Given the description of an element on the screen output the (x, y) to click on. 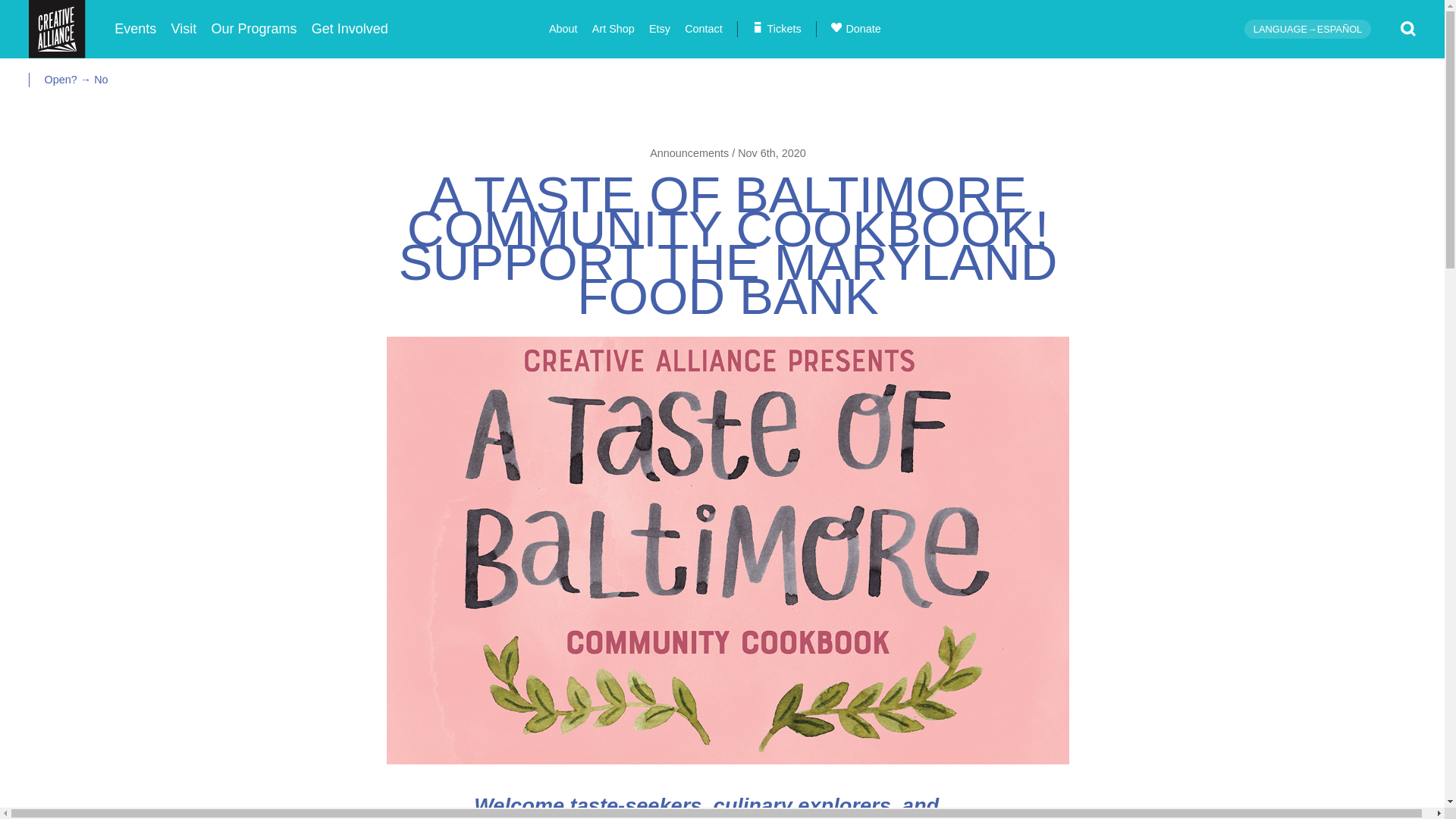
Contact (703, 28)
Art Shop (613, 28)
Get Involved (349, 29)
Etsy (659, 28)
Donate (855, 28)
Events (135, 29)
Our Programs (253, 29)
About (563, 28)
Tickets (776, 28)
